Given the description of an element on the screen output the (x, y) to click on. 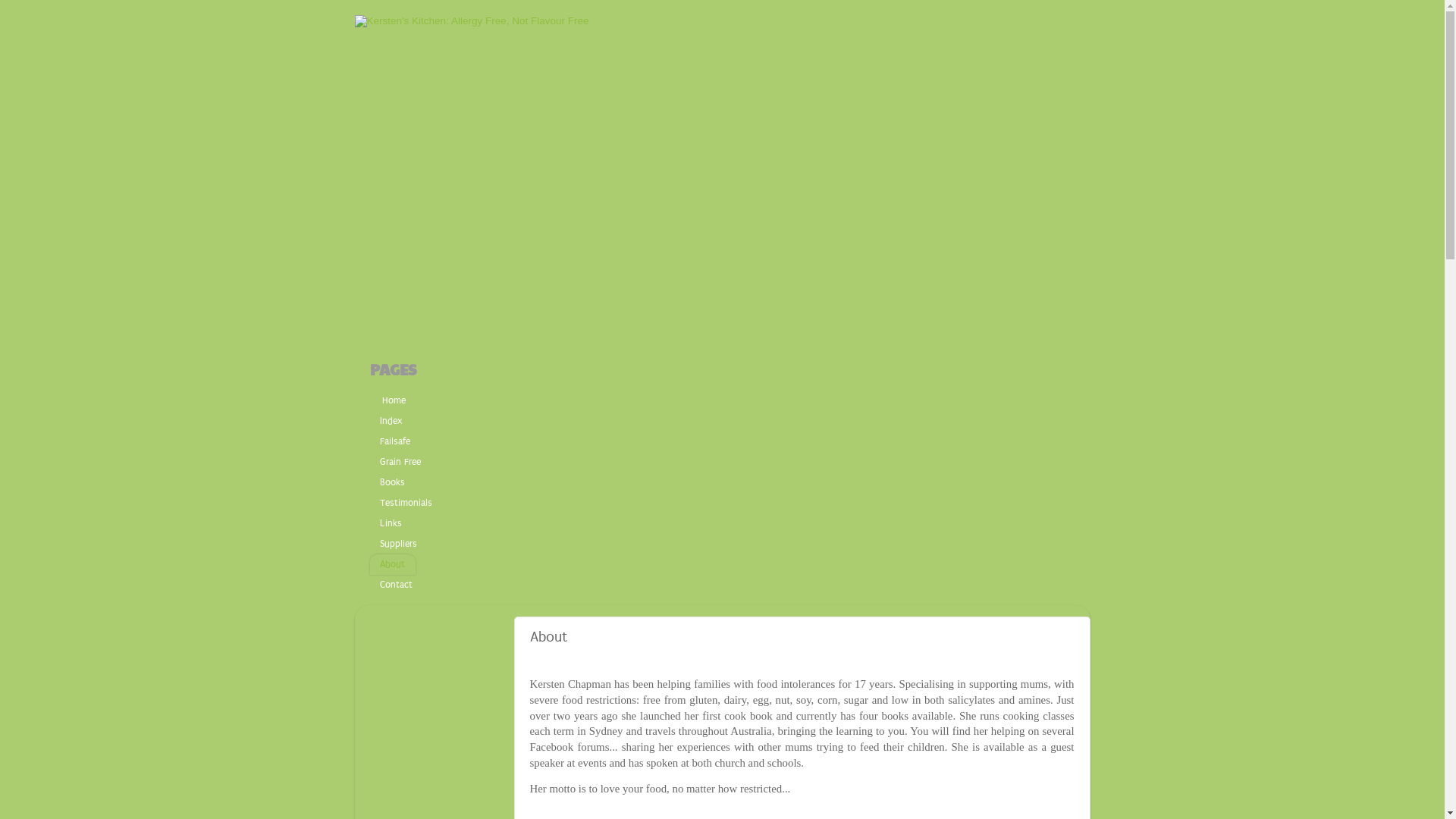
Testimonials Element type: text (406, 502)
About Element type: text (392, 563)
Links Element type: text (391, 522)
Index Element type: text (391, 421)
Grain Free Element type: text (400, 461)
Home Element type: text (393, 399)
Contact Element type: text (396, 584)
Suppliers Element type: text (398, 543)
Books Element type: text (392, 481)
Failsafe Element type: text (395, 440)
